Given the description of an element on the screen output the (x, y) to click on. 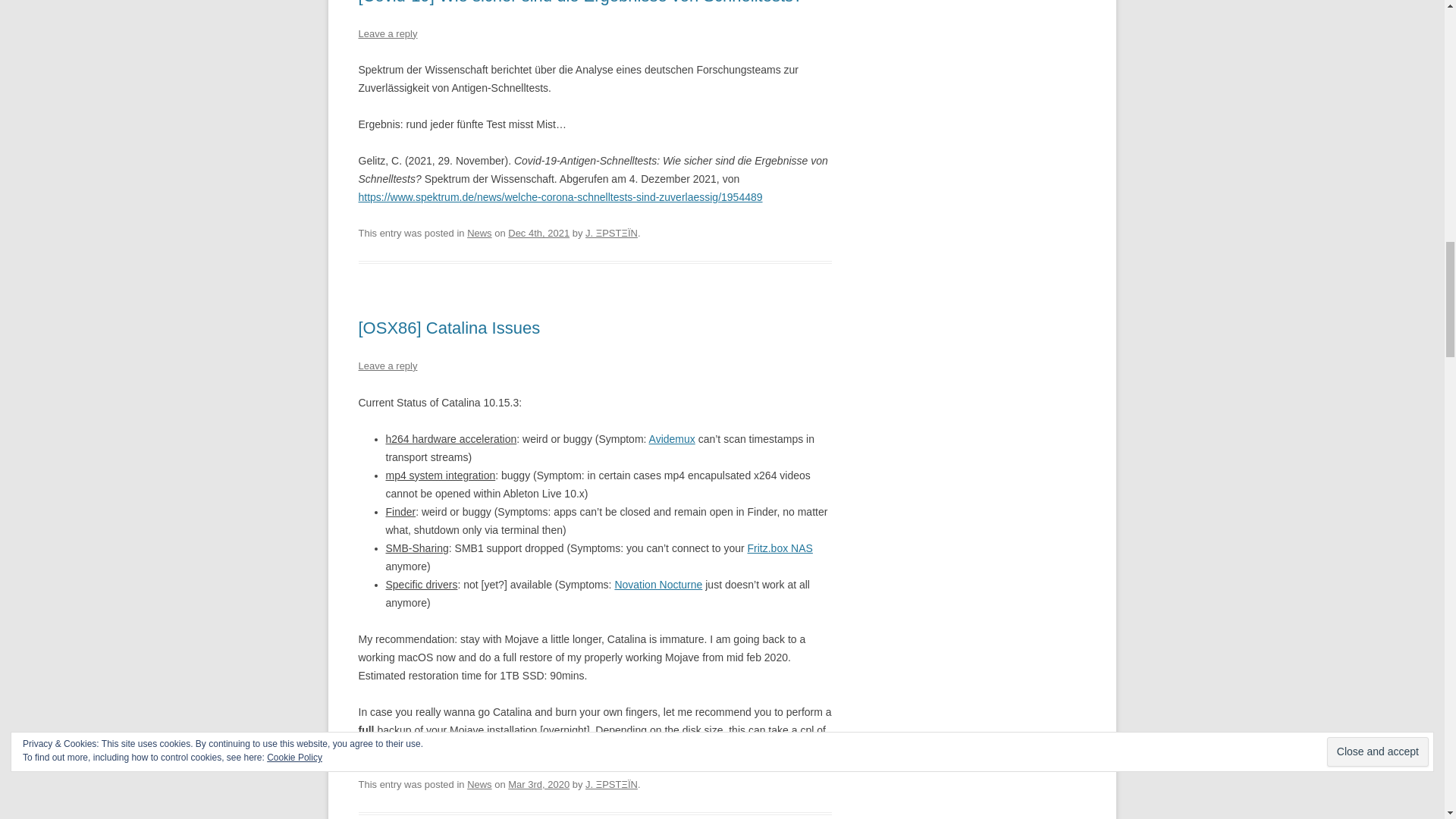
News (479, 784)
News (479, 233)
12:51 (538, 233)
Leave a reply (387, 365)
Avidemux (672, 439)
Leave a reply (387, 32)
23:08 (538, 784)
Carbon Copy Cloner (438, 748)
Novation Nocturne (657, 584)
Fritz.box NAS (780, 548)
